Given the description of an element on the screen output the (x, y) to click on. 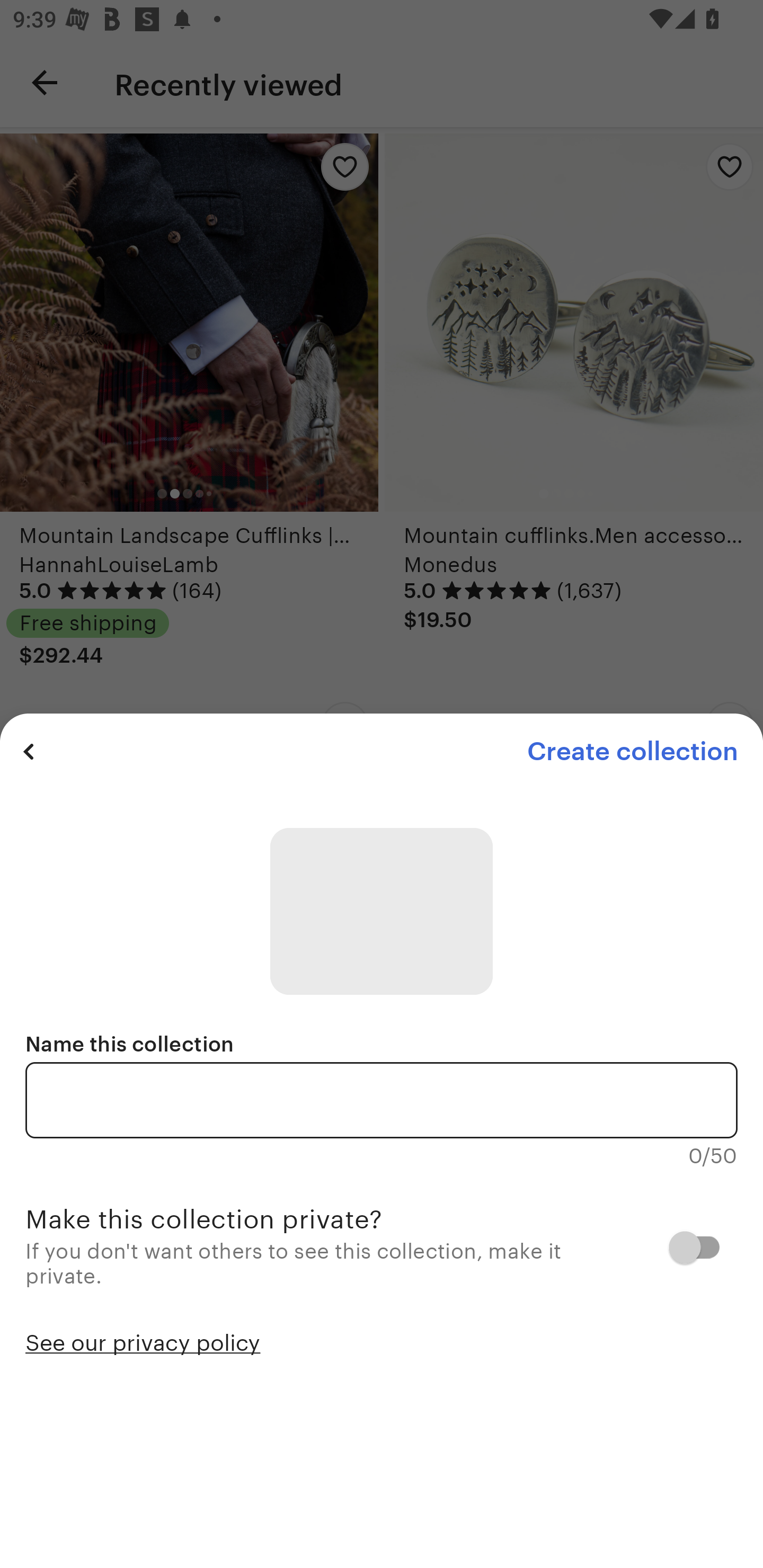
Previous (28, 751)
Create collection (632, 751)
See our privacy policy (142, 1341)
